Given the description of an element on the screen output the (x, y) to click on. 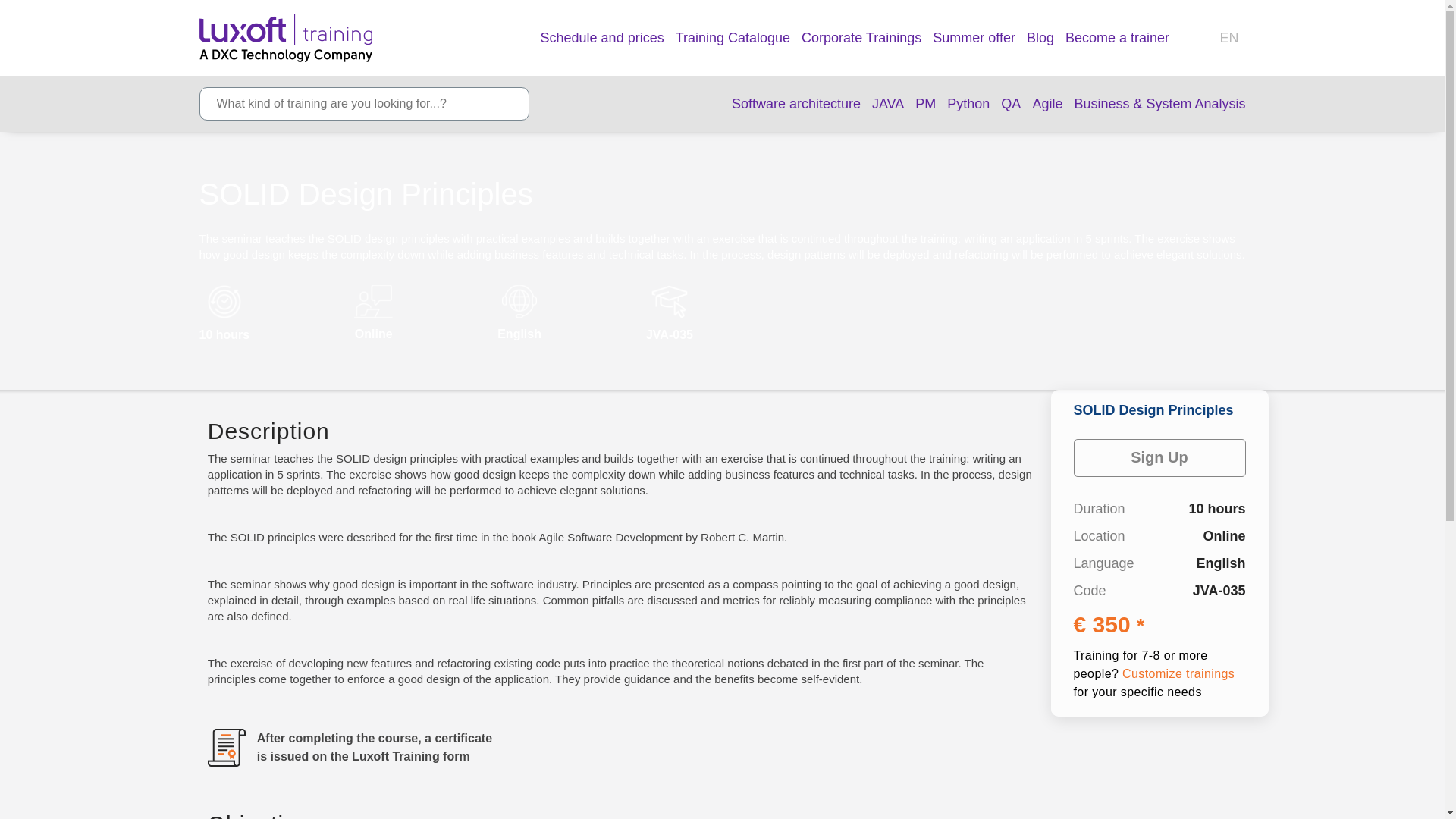
JAVA (888, 104)
Customize trainings (1178, 673)
PM (925, 104)
Our IT courses (601, 37)
Contacts (1198, 37)
Blog (1040, 37)
EN (1232, 37)
Become a trainer (1117, 37)
JVA-035 (669, 334)
Blog and News (1040, 37)
